Given the description of an element on the screen output the (x, y) to click on. 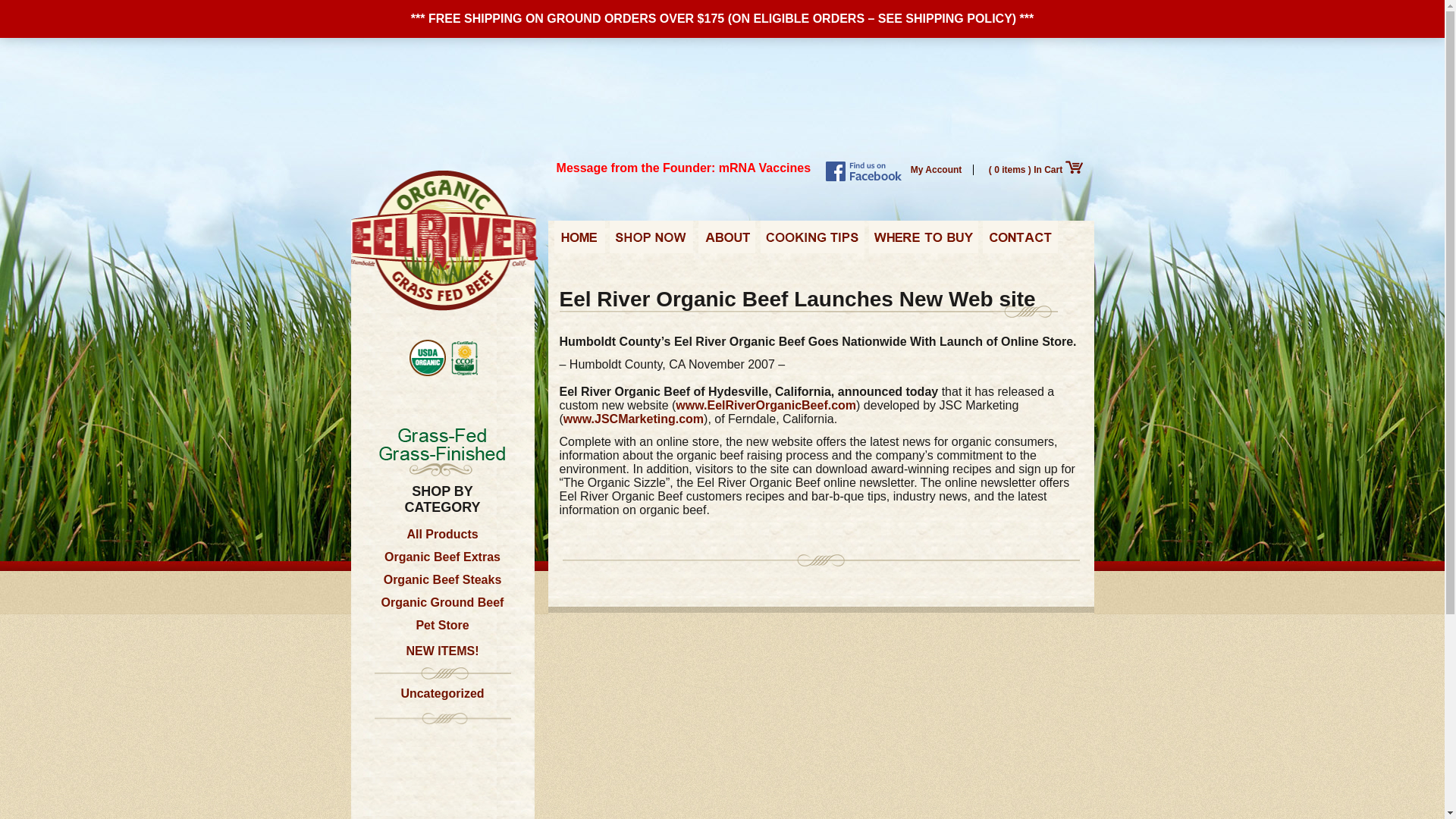
Cooking Tips (812, 241)
Shop Now (652, 241)
View your shopping cart (1035, 169)
www.JSCMarketing.com (633, 418)
Pet Store (441, 625)
Organic Ground Beef (442, 602)
Home (578, 241)
Where to Buy (923, 241)
www.EelRiverOrganicBeef.com (765, 404)
JSC Marketing, LLC (633, 418)
About (725, 241)
Contact (1020, 241)
Uncategorized (441, 693)
All Products (441, 533)
Organic Beef Extras (442, 552)
